Given the description of an element on the screen output the (x, y) to click on. 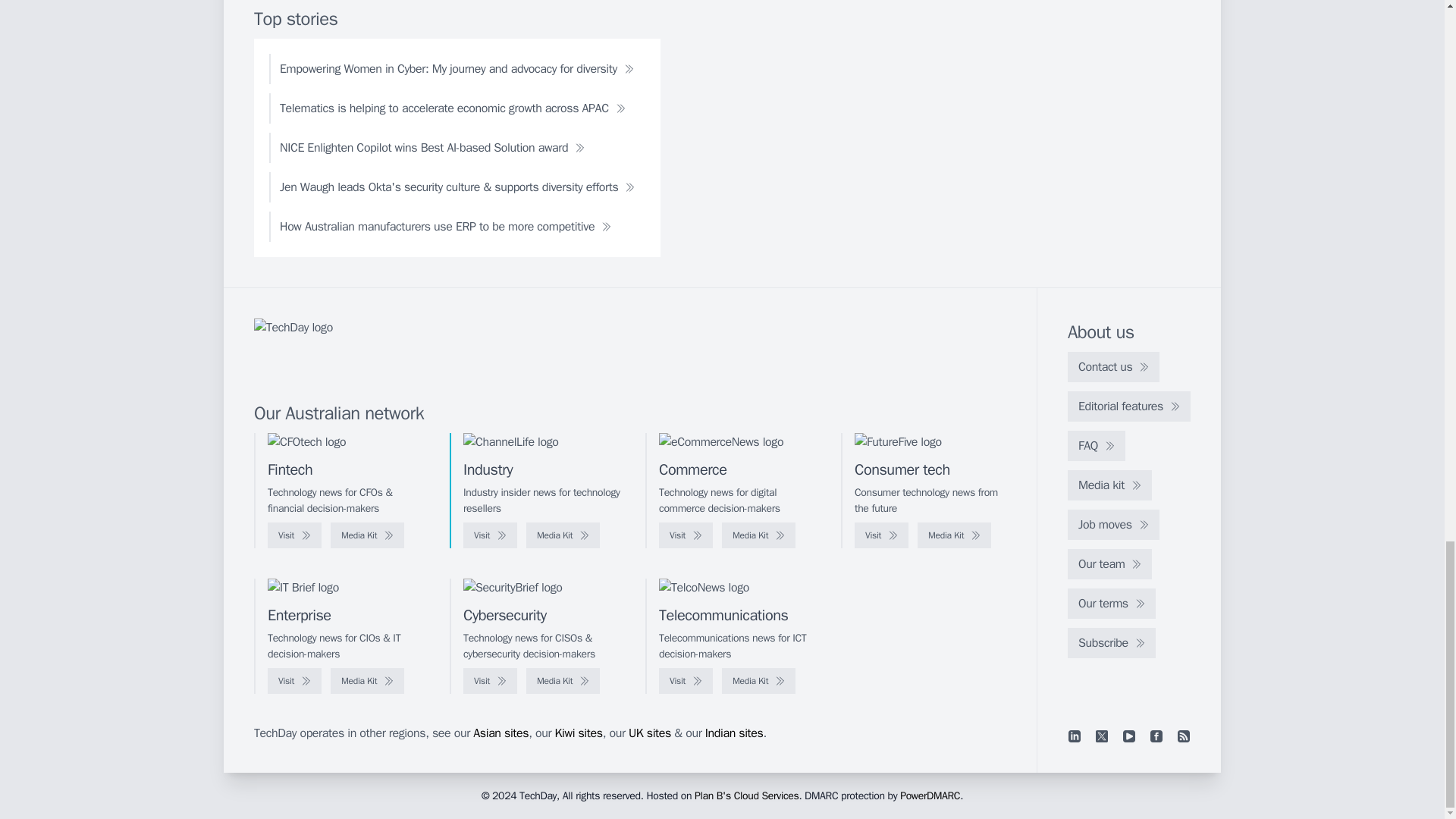
NICE Enlighten Copilot wins Best AI-based Solution award (432, 147)
Media Kit (954, 534)
Media Kit (367, 534)
Visit (881, 534)
Visit (686, 534)
Media Kit (562, 534)
Visit (489, 534)
Media Kit (758, 534)
